Given the description of an element on the screen output the (x, y) to click on. 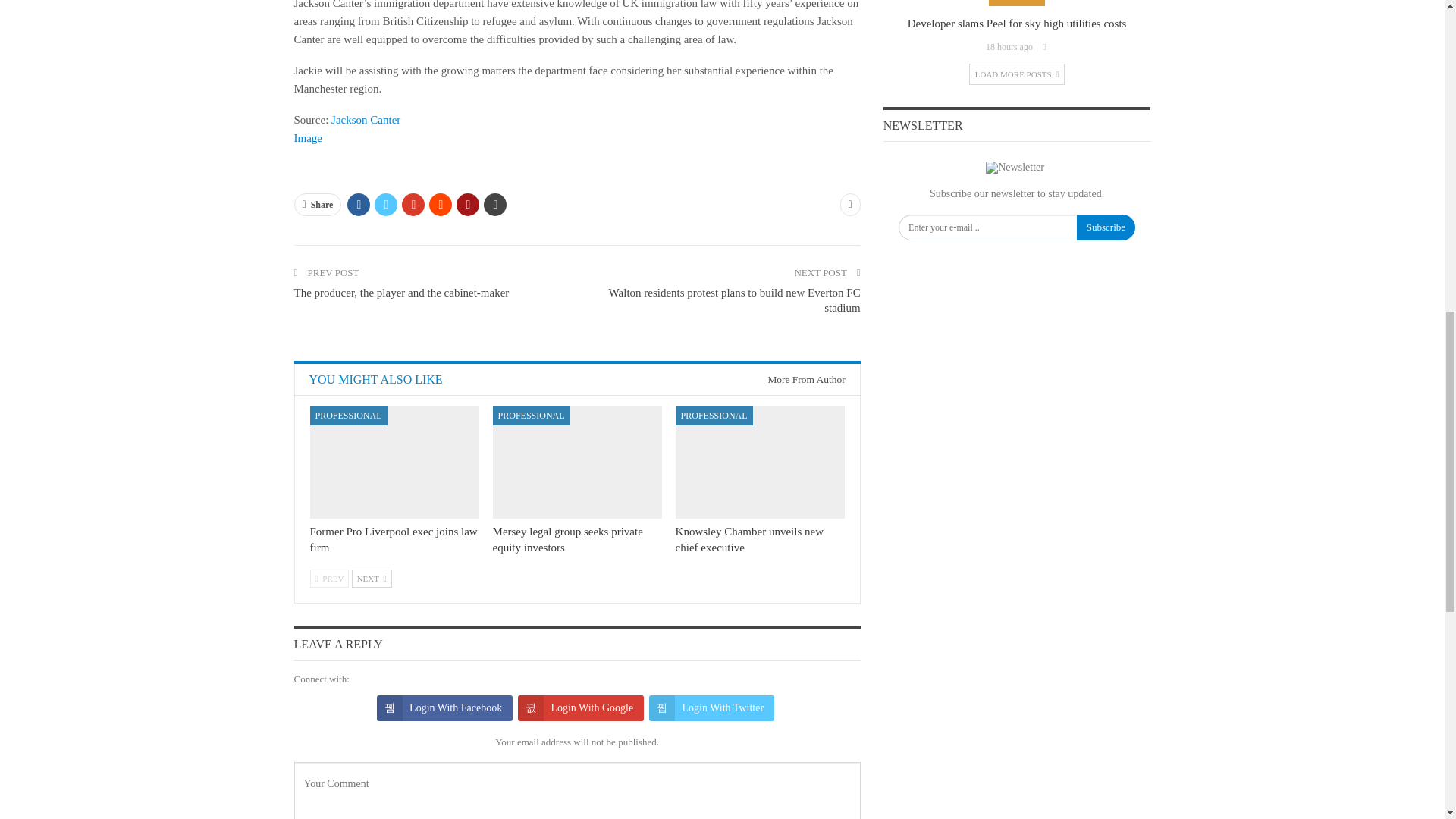
Previous (328, 578)
Former Pro Liverpool exec joins law firm (393, 461)
Next (371, 578)
Knowsley Chamber unveils new chief executive (759, 461)
Mersey legal group seeks private equity investors (577, 461)
